Given the description of an element on the screen output the (x, y) to click on. 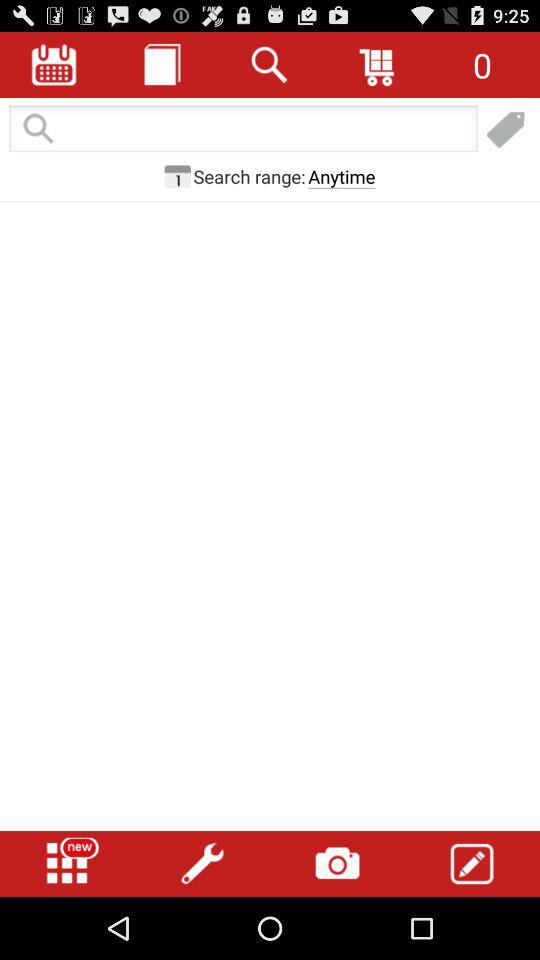
turn off search range: icon (249, 175)
